Given the description of an element on the screen output the (x, y) to click on. 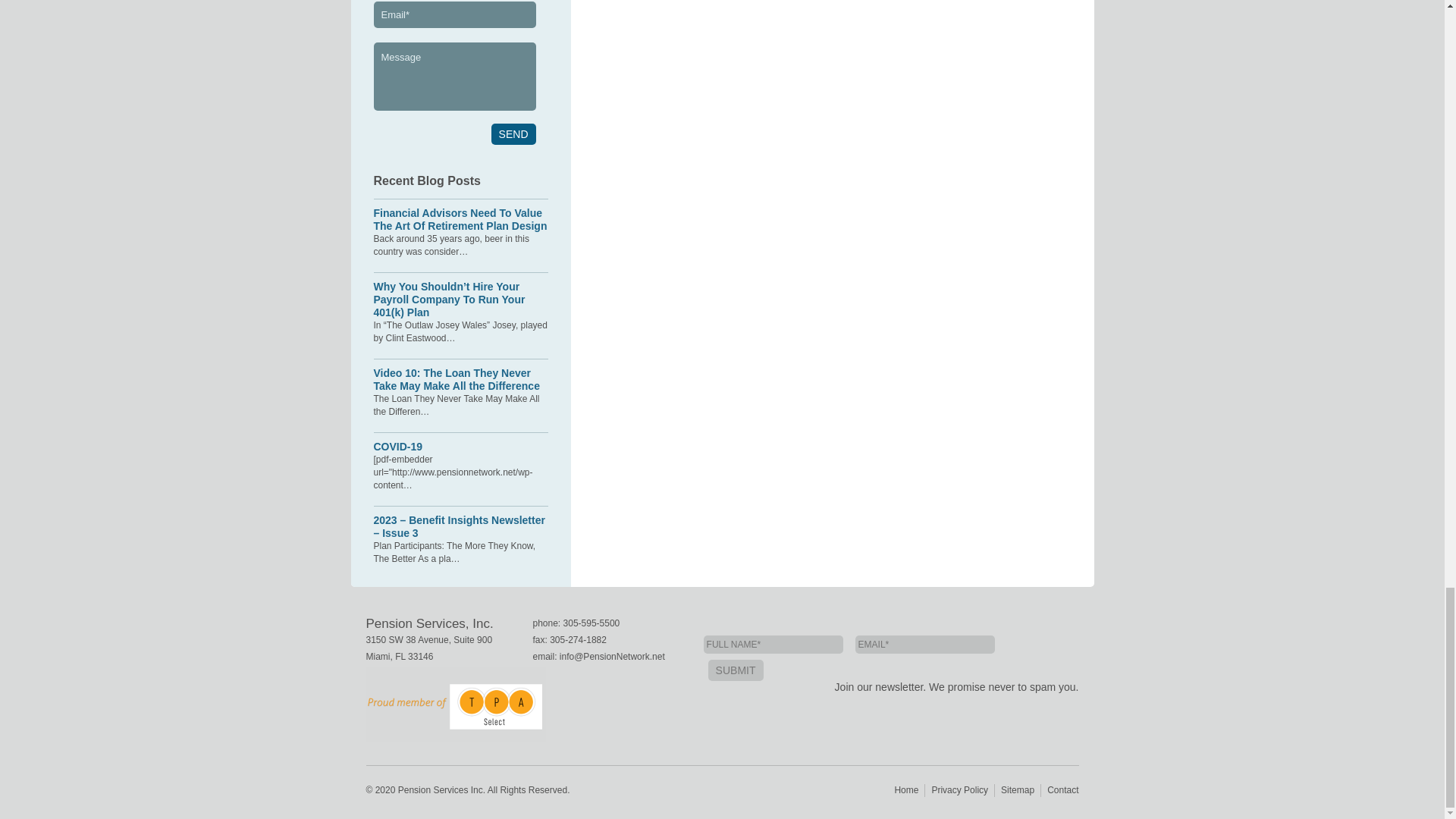
Send (513, 133)
Submit (734, 670)
